Given the description of an element on the screen output the (x, y) to click on. 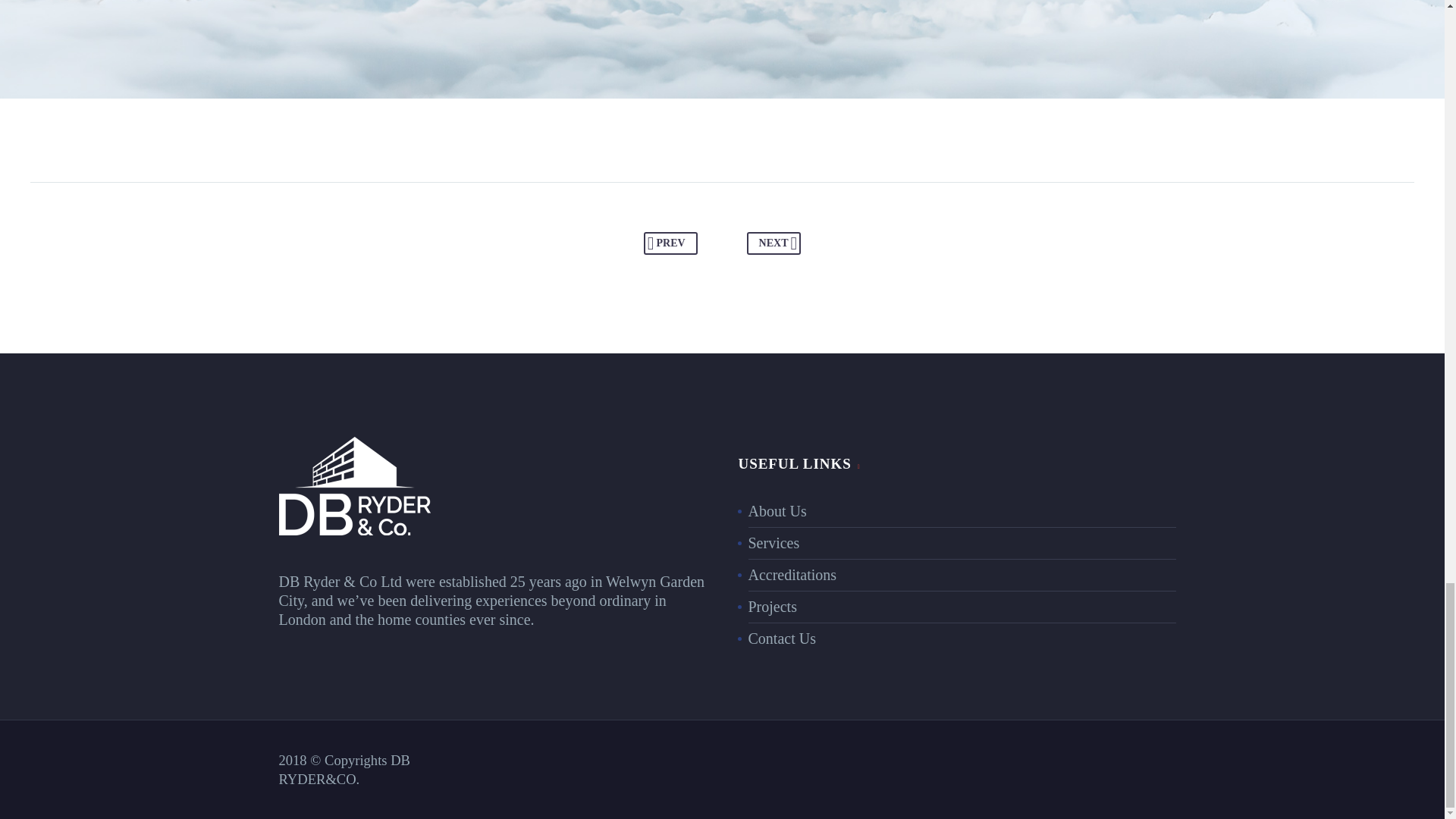
ftr-logo (354, 485)
Contact Us (781, 638)
Projects (772, 606)
PREV (670, 242)
Services (773, 542)
NEXT (774, 242)
About Us (777, 510)
Accreditations (791, 574)
